Given the description of an element on the screen output the (x, y) to click on. 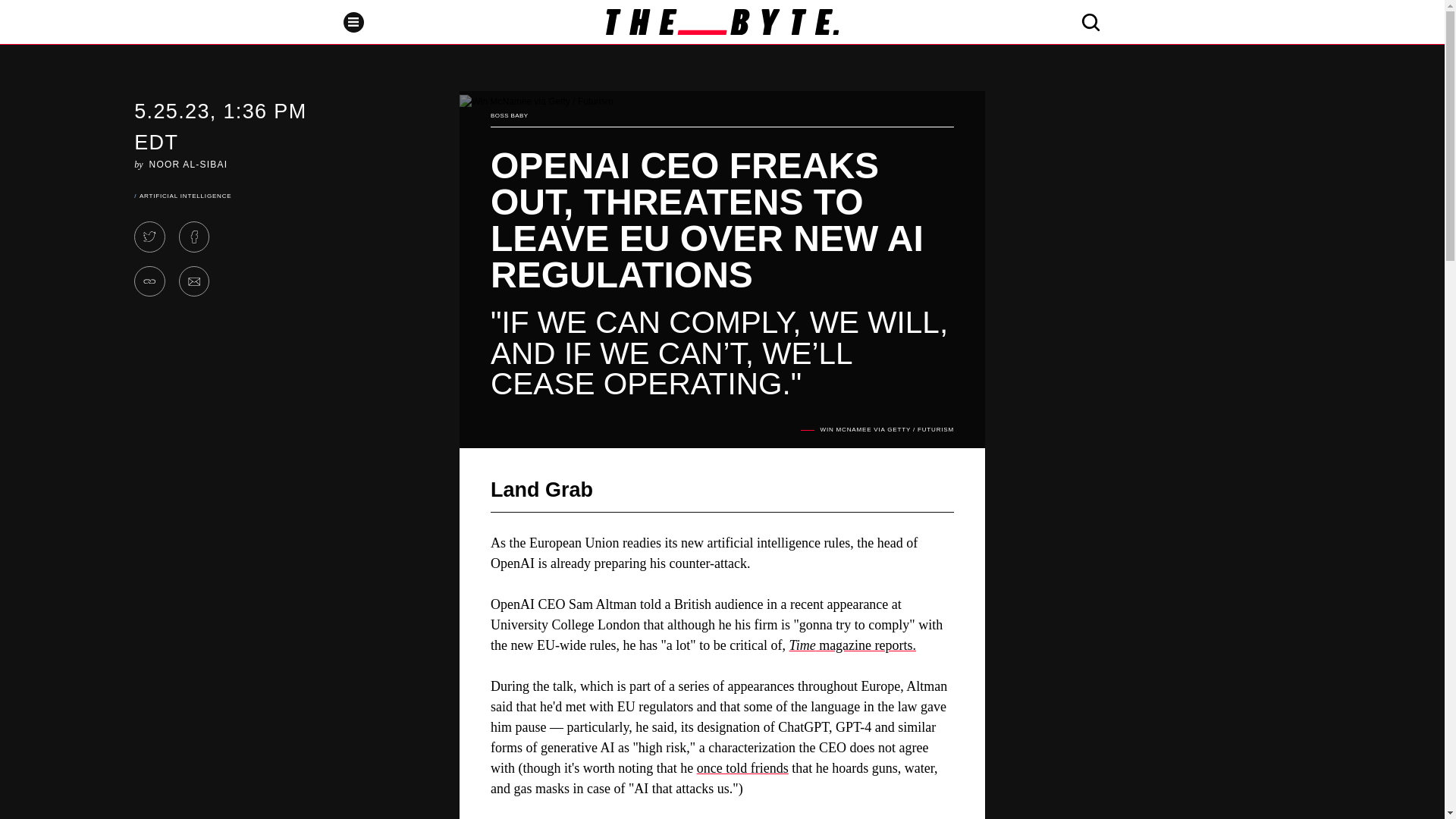
once told friends (743, 767)
NOOR AL-SIBAI (188, 163)
Noor Al-Sibai (188, 163)
Time magazine reports. (852, 645)
Share via Email (194, 281)
Tweet This (149, 236)
Share to Facebook (194, 236)
Artificial Intelligence (185, 195)
Copy Link (149, 281)
The Byte (722, 22)
ARTIFICIAL INTELLIGENCE (185, 195)
